Given the description of an element on the screen output the (x, y) to click on. 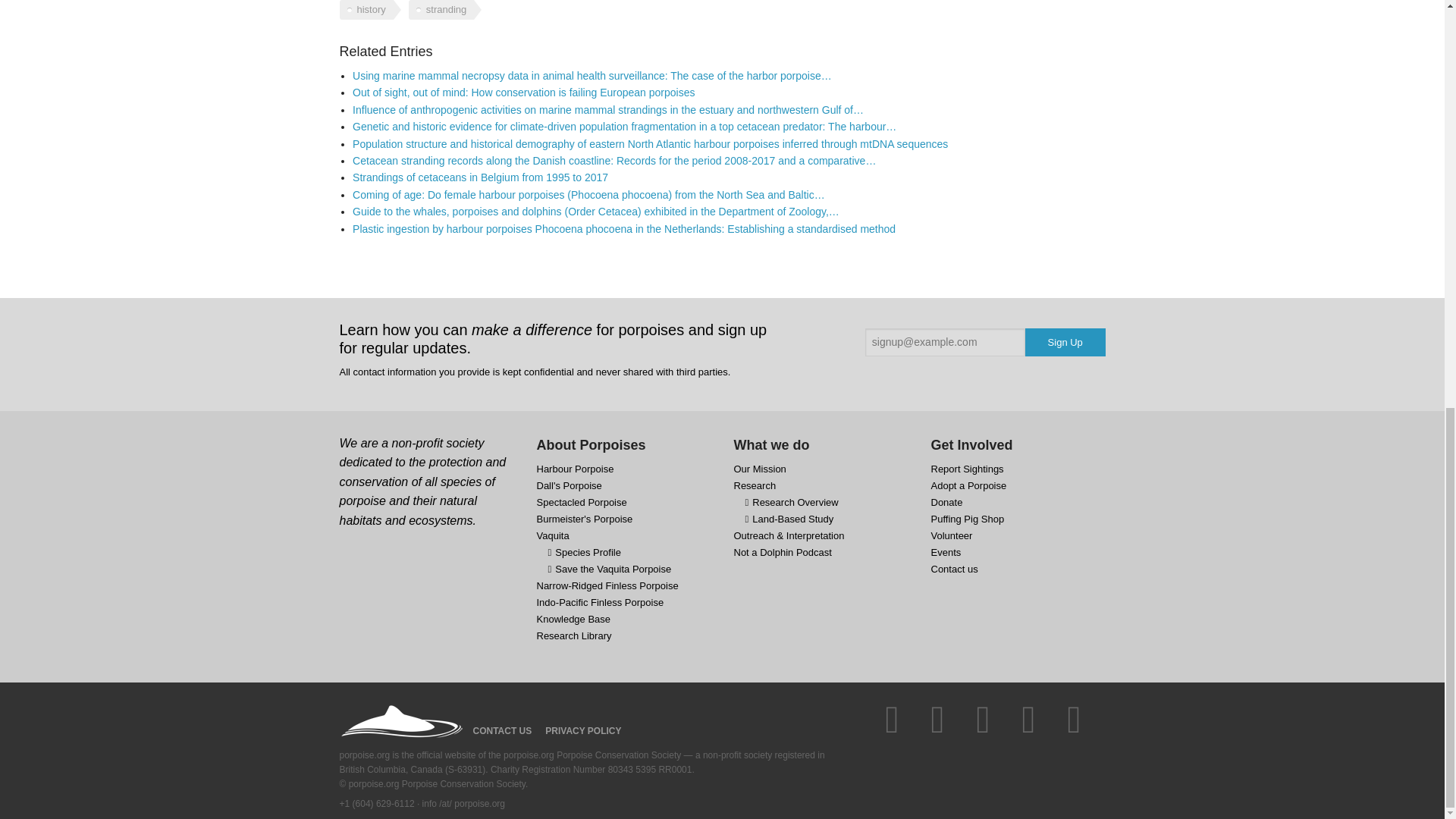
Sign Up (1065, 342)
